Given the description of an element on the screen output the (x, y) to click on. 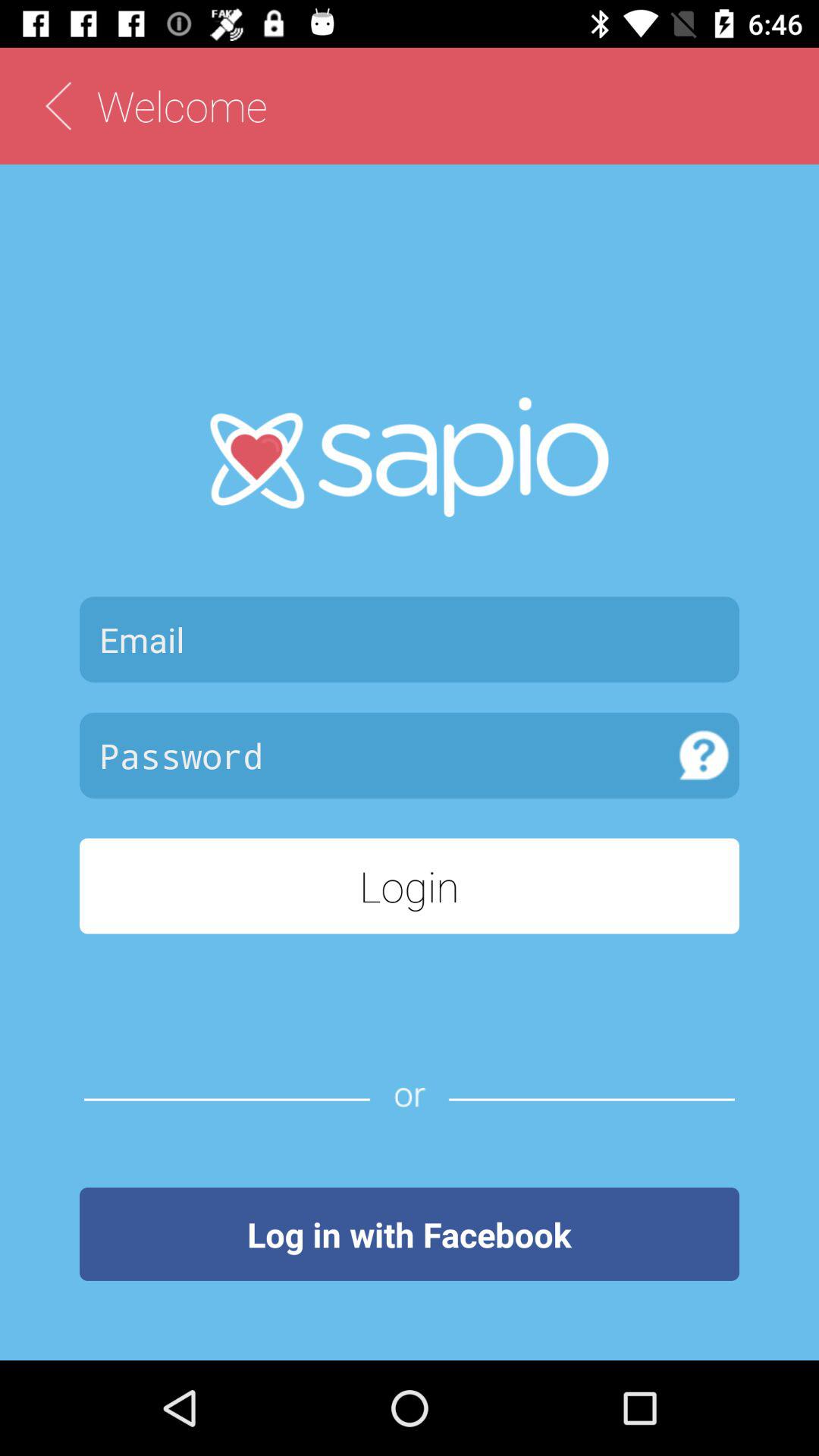
enter email (409, 639)
